Given the description of an element on the screen output the (x, y) to click on. 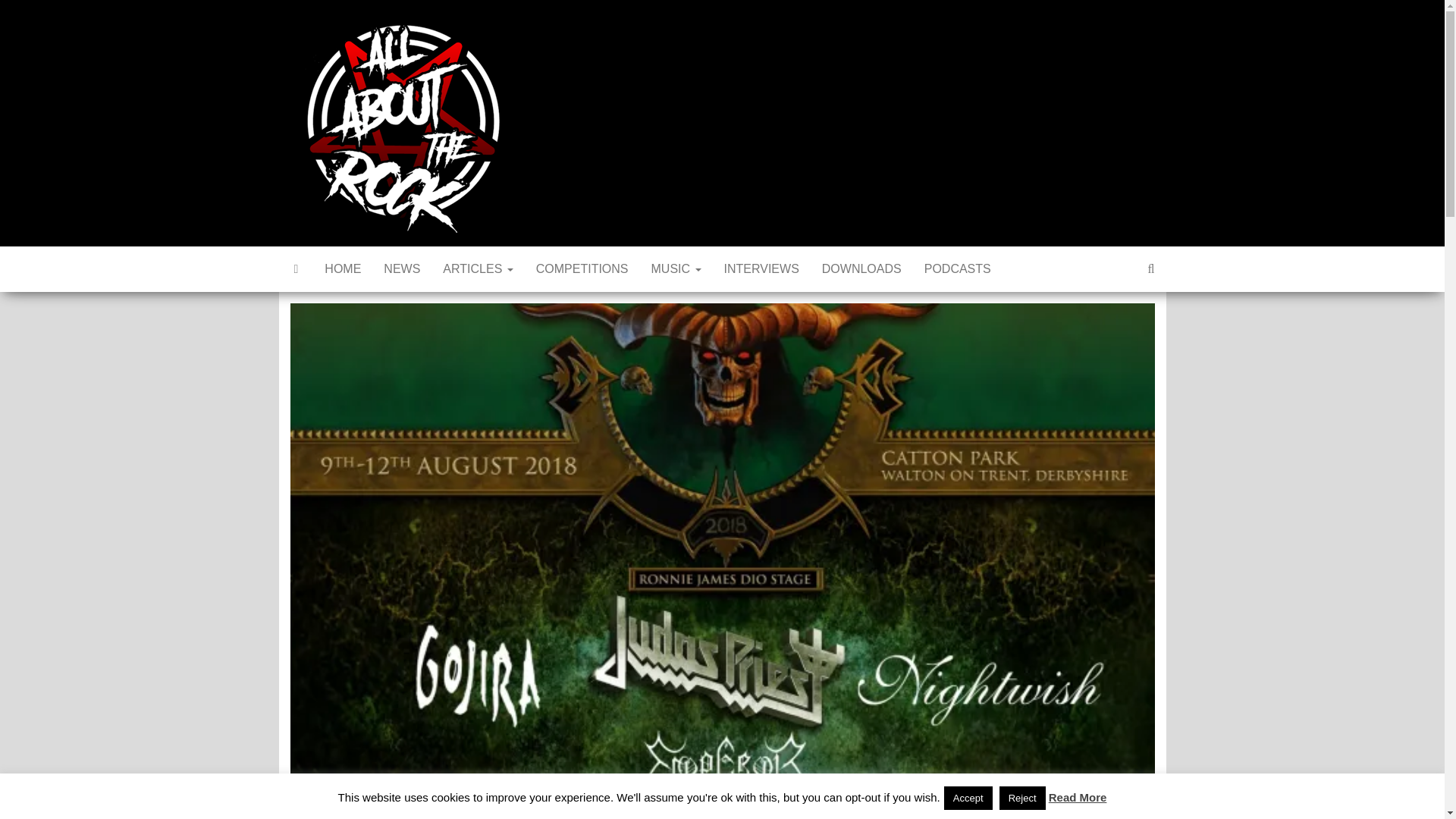
HOME (342, 268)
Articles (477, 268)
ARTICLES (477, 268)
DOWNLOADS (861, 268)
NEWS (401, 268)
PODCASTS (957, 268)
News (401, 268)
MUSIC (676, 268)
Home (342, 268)
COMPETITIONS (582, 268)
